Given the description of an element on the screen output the (x, y) to click on. 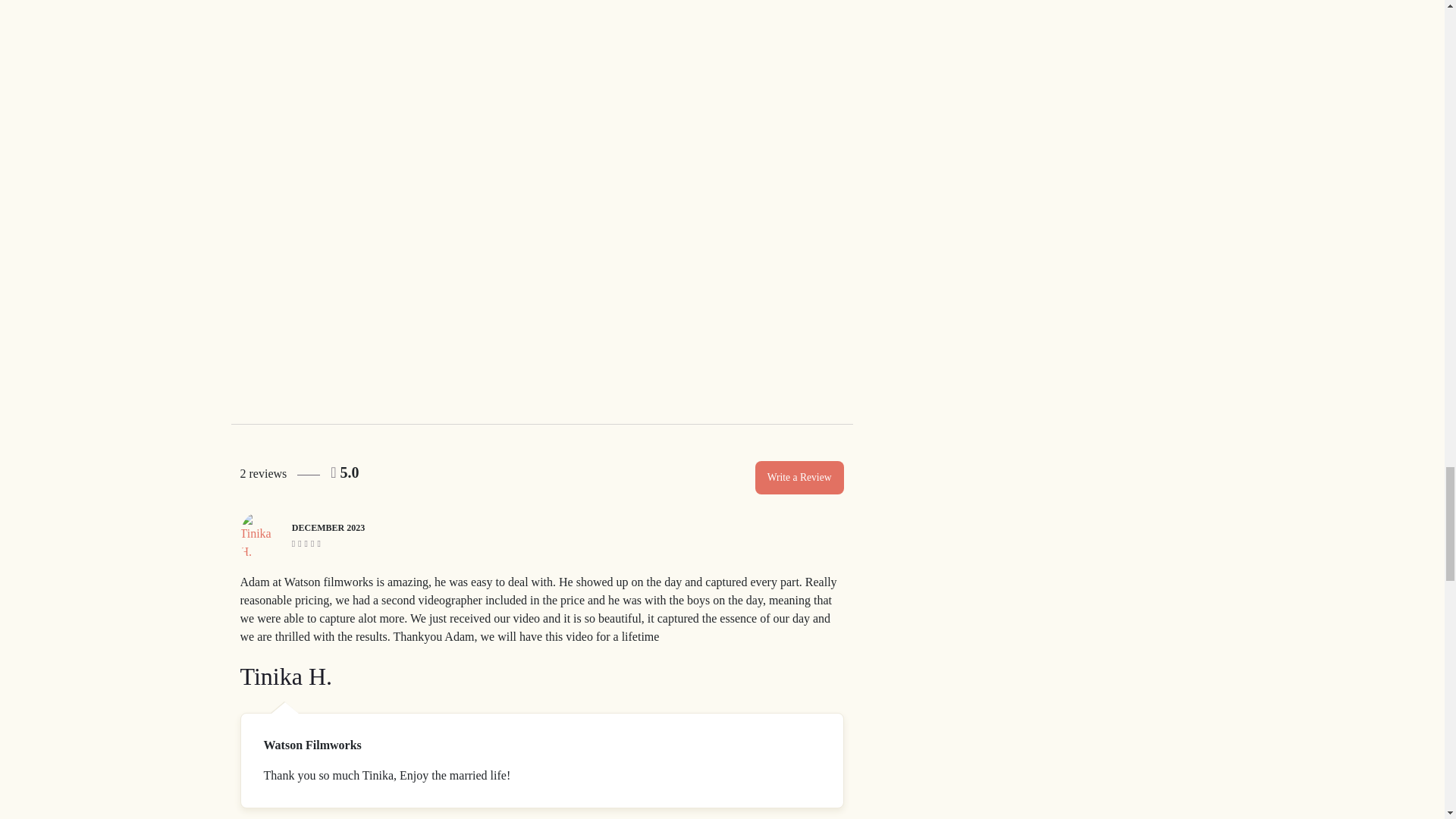
Write a Review (799, 477)
